Given the description of an element on the screen output the (x, y) to click on. 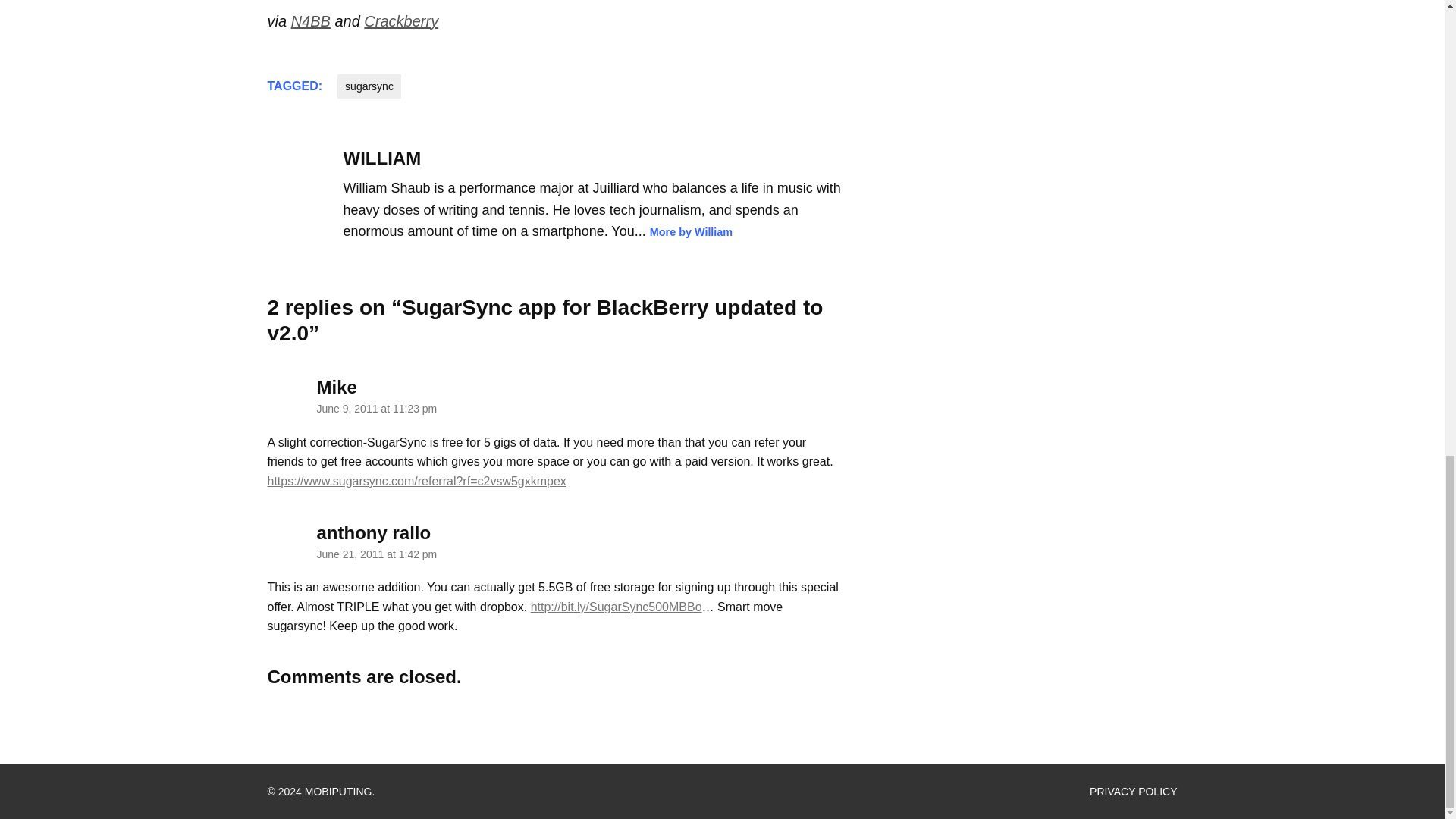
N4BB (310, 21)
Crackberry (401, 21)
June 21, 2011 at 1:42 pm (377, 553)
sugarsync (369, 86)
June 9, 2011 at 11:23 pm (377, 408)
